Given the description of an element on the screen output the (x, y) to click on. 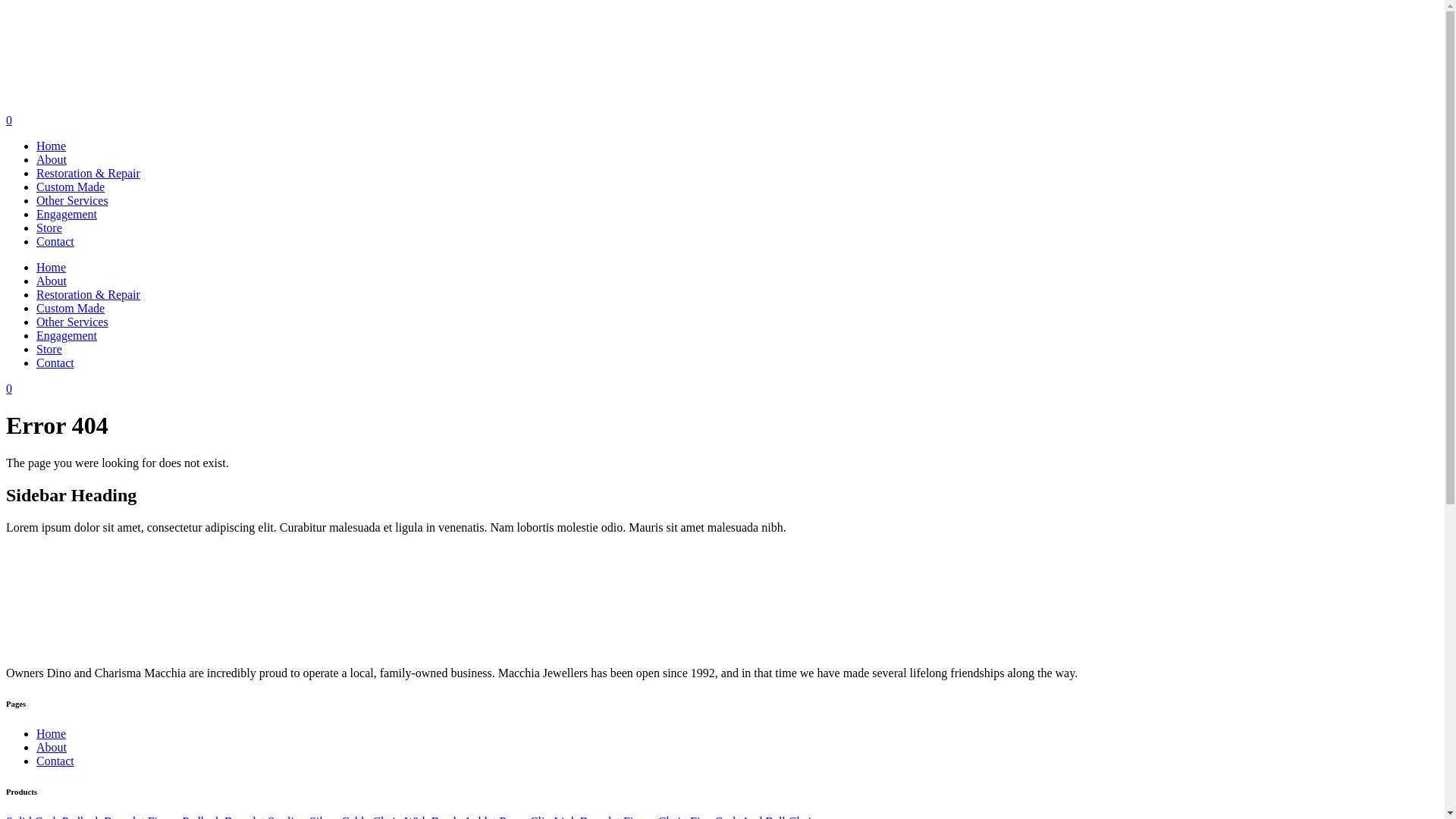
Home Element type: text (50, 145)
Engagement Element type: text (66, 335)
Contact Element type: text (55, 760)
Custom Made Element type: text (70, 307)
Custom Made Element type: text (70, 186)
Restoration & Repair Element type: text (88, 294)
Contact Element type: text (55, 362)
Other Services Element type: text (72, 321)
Restoration & Repair Element type: text (88, 172)
About Element type: text (51, 280)
0 Element type: text (9, 388)
0 Element type: text (9, 119)
About Element type: text (51, 159)
Other Services Element type: text (72, 200)
Home Element type: text (50, 733)
Contact Element type: text (55, 241)
Store Element type: text (49, 227)
About Element type: text (51, 746)
Home Element type: text (50, 266)
Store Element type: text (49, 348)
Engagement Element type: text (66, 213)
